Given the description of an element on the screen output the (x, y) to click on. 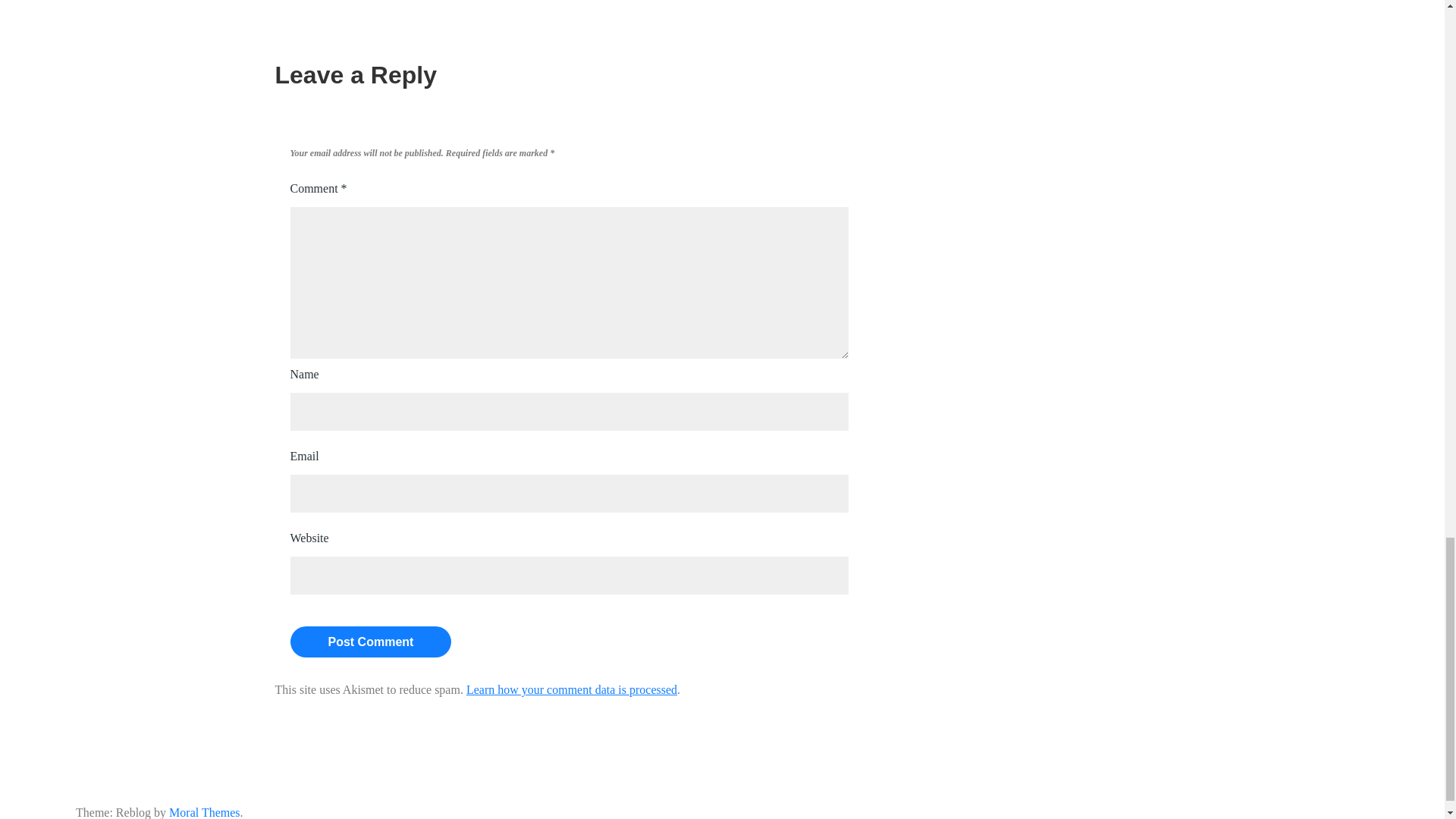
Post Comment (370, 641)
Learn how your comment data is processed (571, 689)
Post Comment (370, 641)
